Given the description of an element on the screen output the (x, y) to click on. 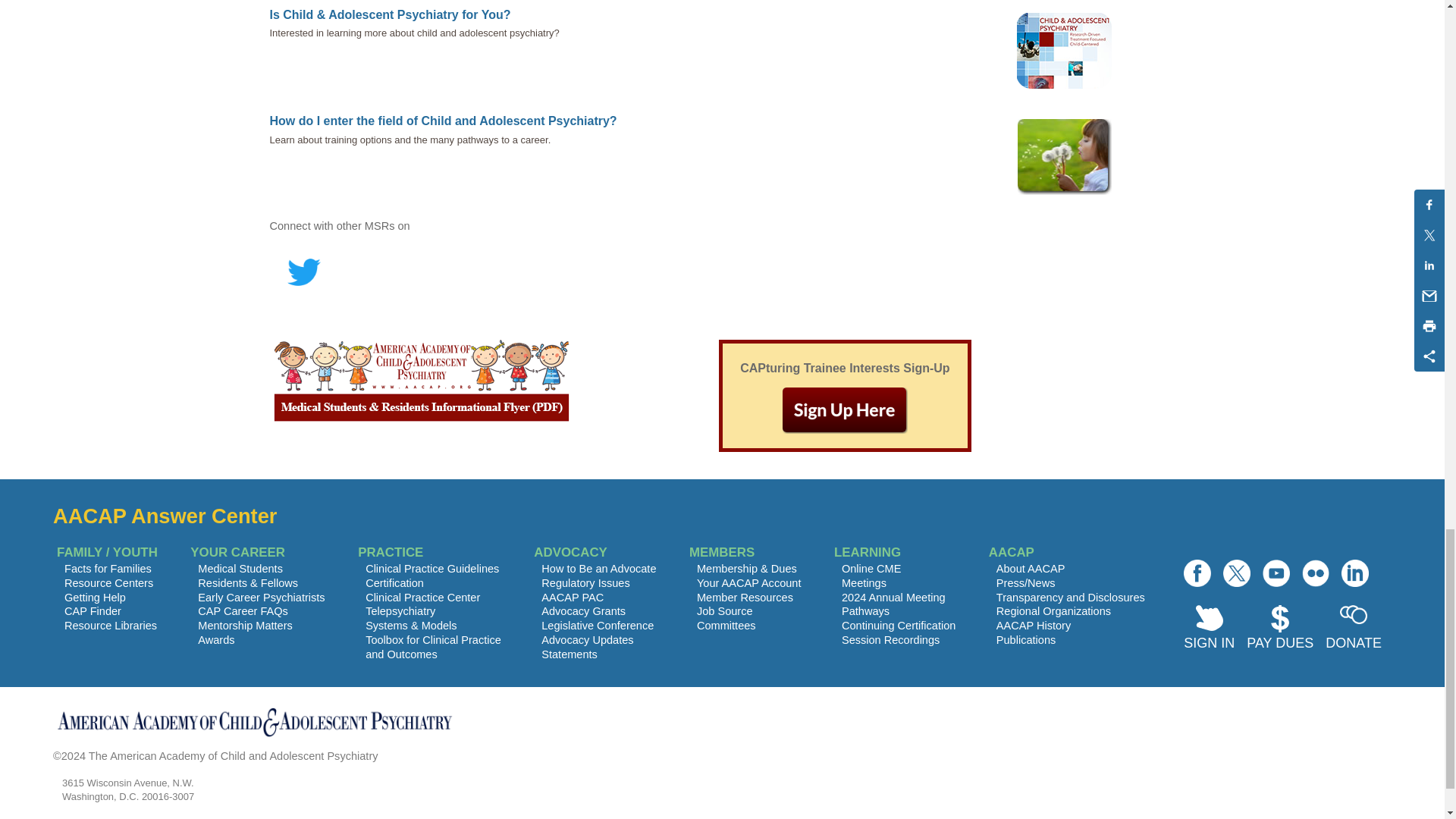
Follow Us on LinkedIn (1354, 573)
Follow us on Facebook! (1197, 573)
Pay Dues (1279, 629)
Follow us on Twitter! (1236, 573)
Flickr (1315, 573)
CME (583, 611)
Sign In (1208, 629)
Donate (1352, 629)
Subscribe to us on YouTube! (1276, 573)
